Given the description of an element on the screen output the (x, y) to click on. 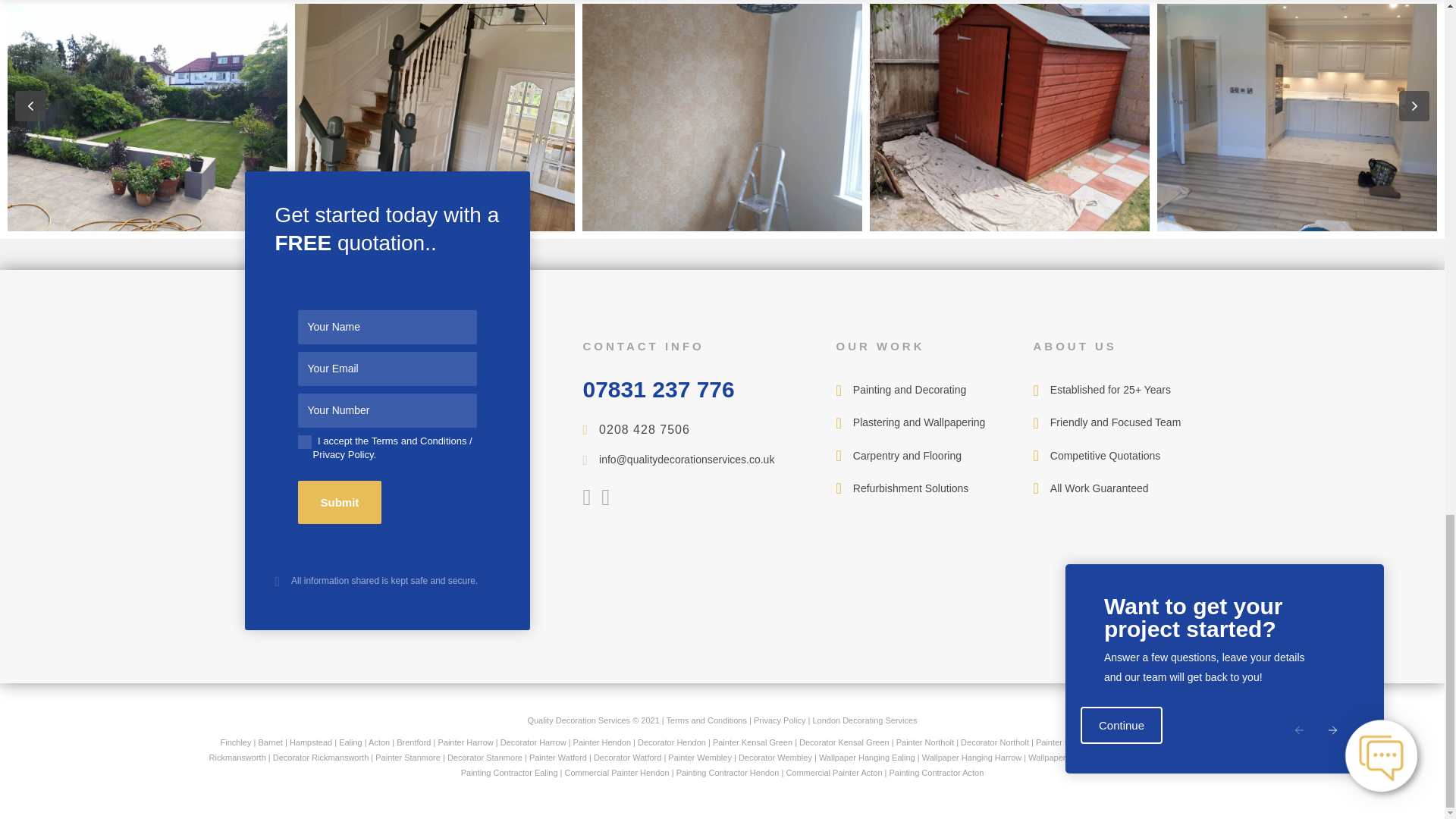
0208 428 7506 (644, 430)
Submit (339, 502)
